Given the description of an element on the screen output the (x, y) to click on. 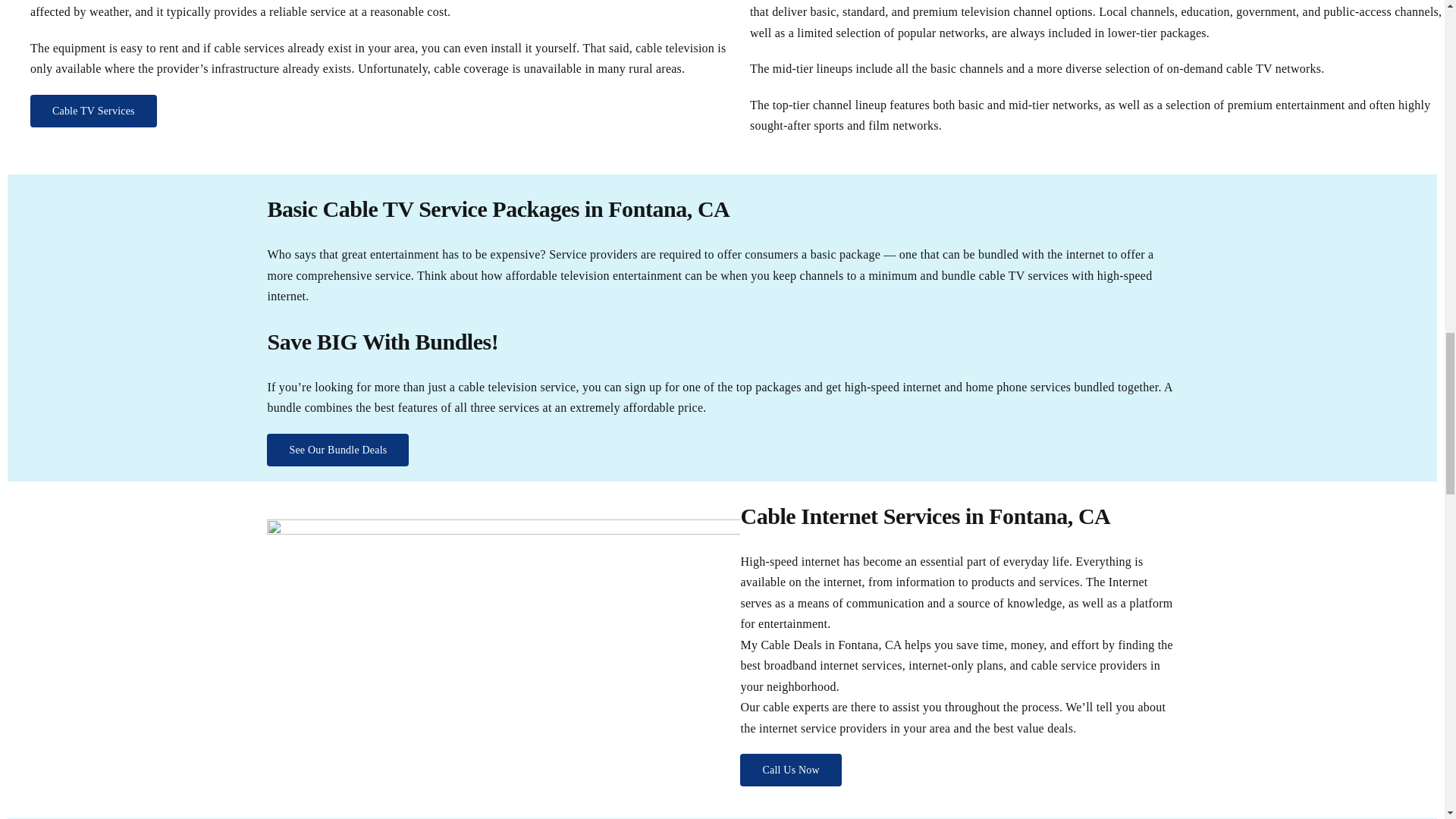
See Our Bundle Deals (337, 450)
Cable TV Services (93, 111)
Call Us Now (790, 769)
